Given the description of an element on the screen output the (x, y) to click on. 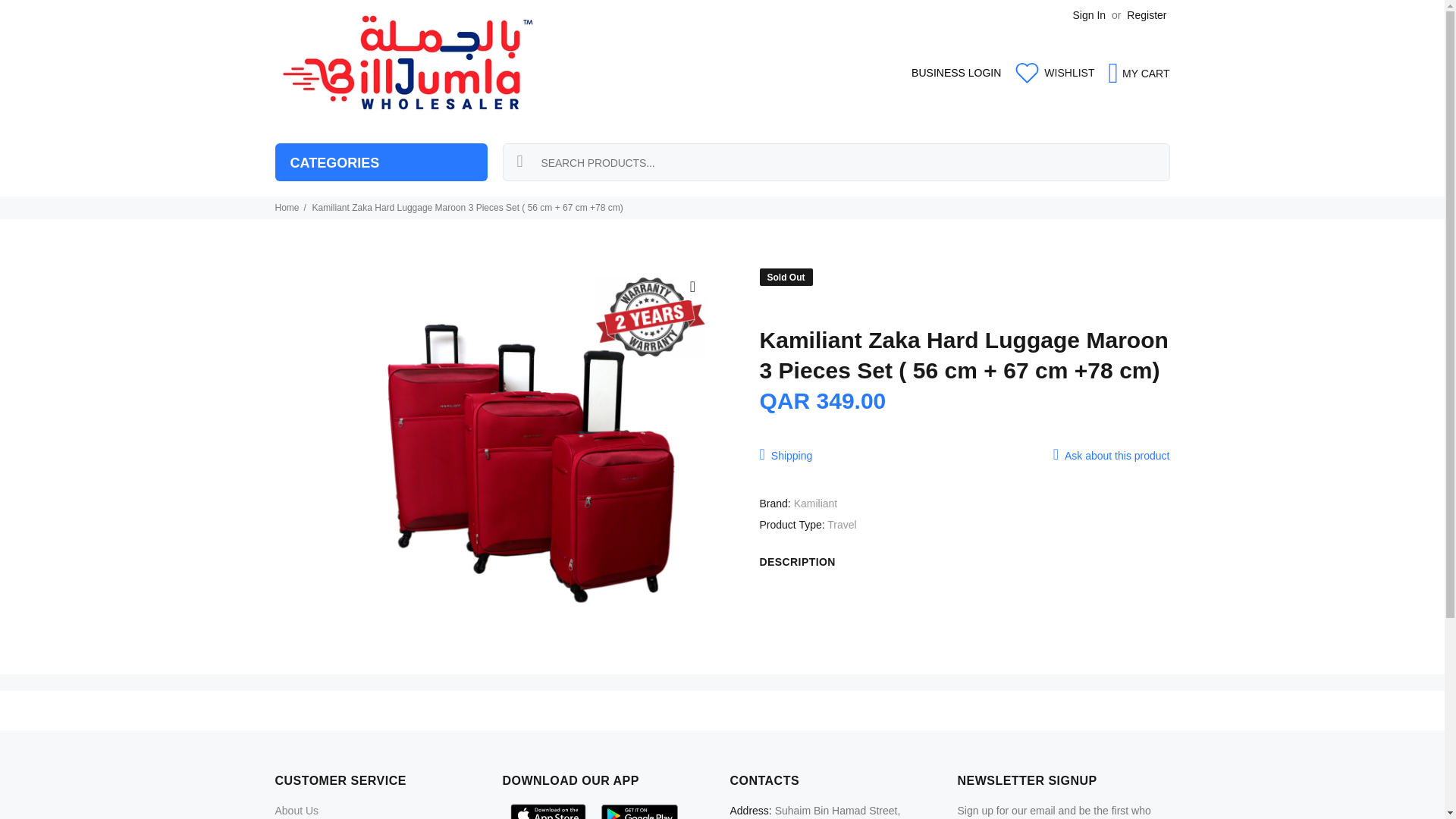
Kamiliant (815, 503)
